Given the description of an element on the screen output the (x, y) to click on. 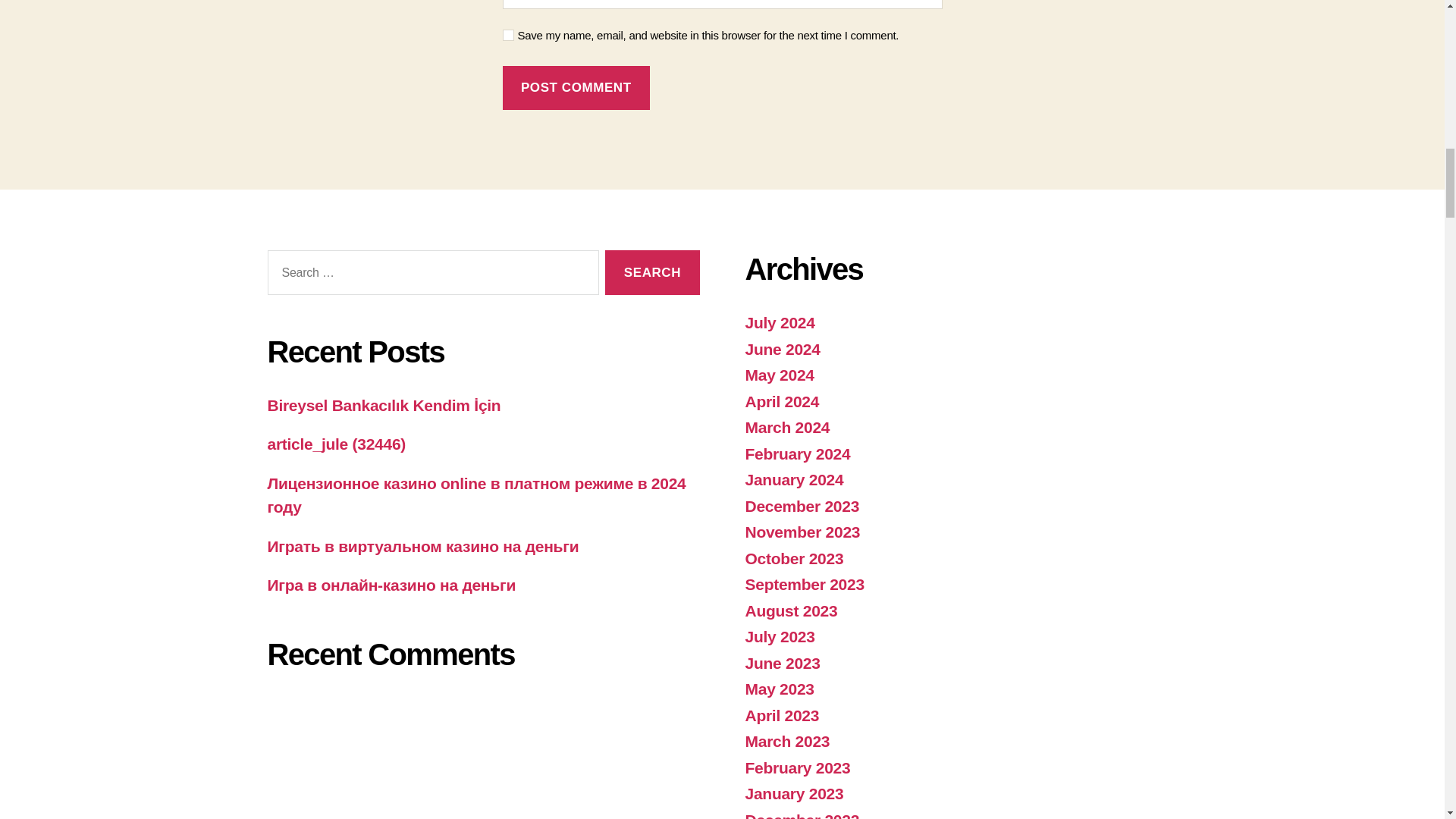
October 2023 (793, 558)
December 2023 (801, 506)
Search (651, 272)
April 2024 (781, 401)
yes (507, 34)
Search (651, 272)
January 2024 (793, 479)
March 2024 (786, 426)
November 2023 (802, 531)
Search (651, 272)
